Given the description of an element on the screen output the (x, y) to click on. 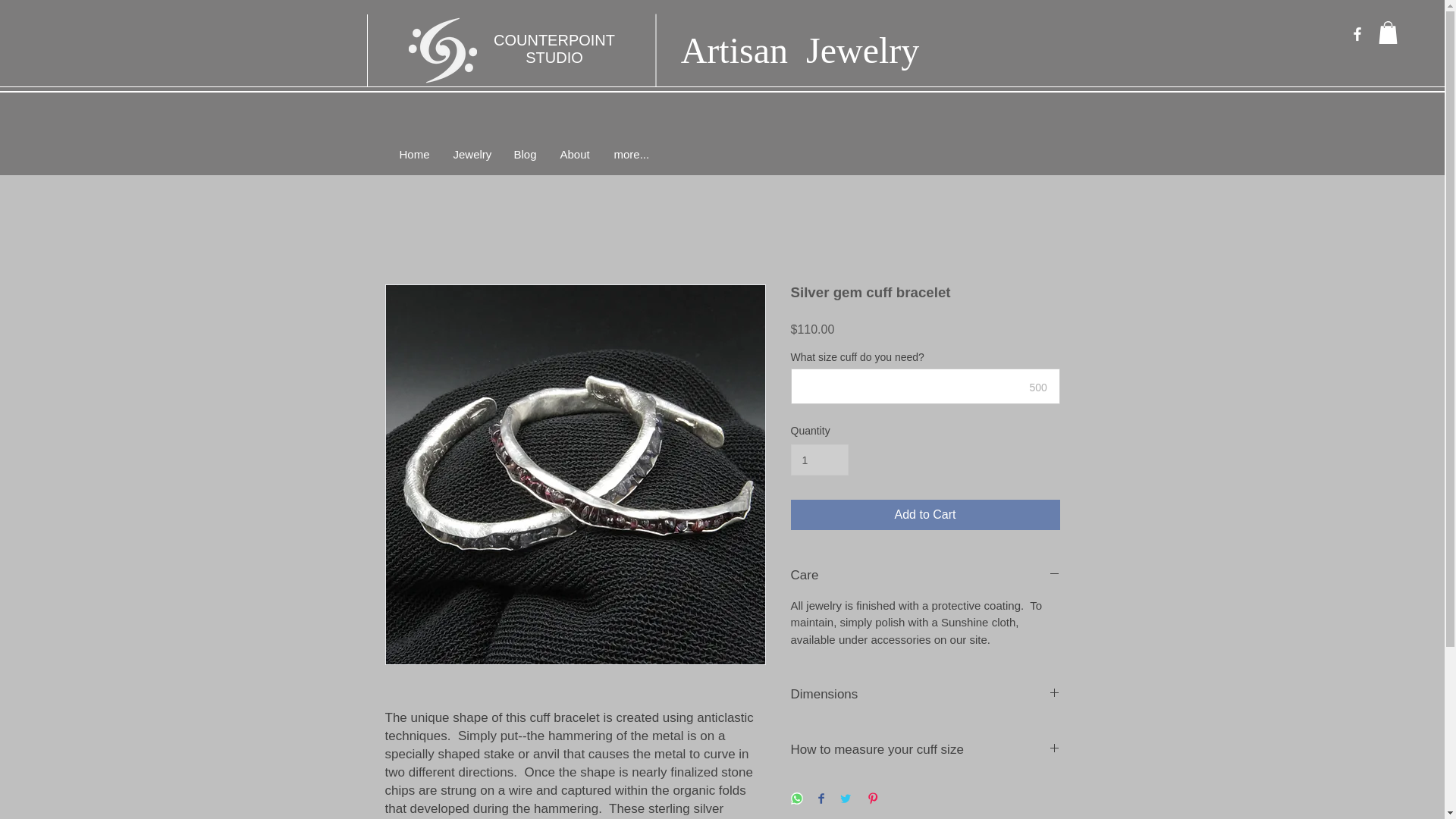
1 (818, 459)
Home (415, 154)
About (575, 154)
Blog (525, 154)
COUNTERPOINT STUDIO (553, 48)
Dimensions (924, 694)
How to measure your cuff size (924, 750)
Care (924, 575)
Add to Cart (924, 514)
